Given the description of an element on the screen output the (x, y) to click on. 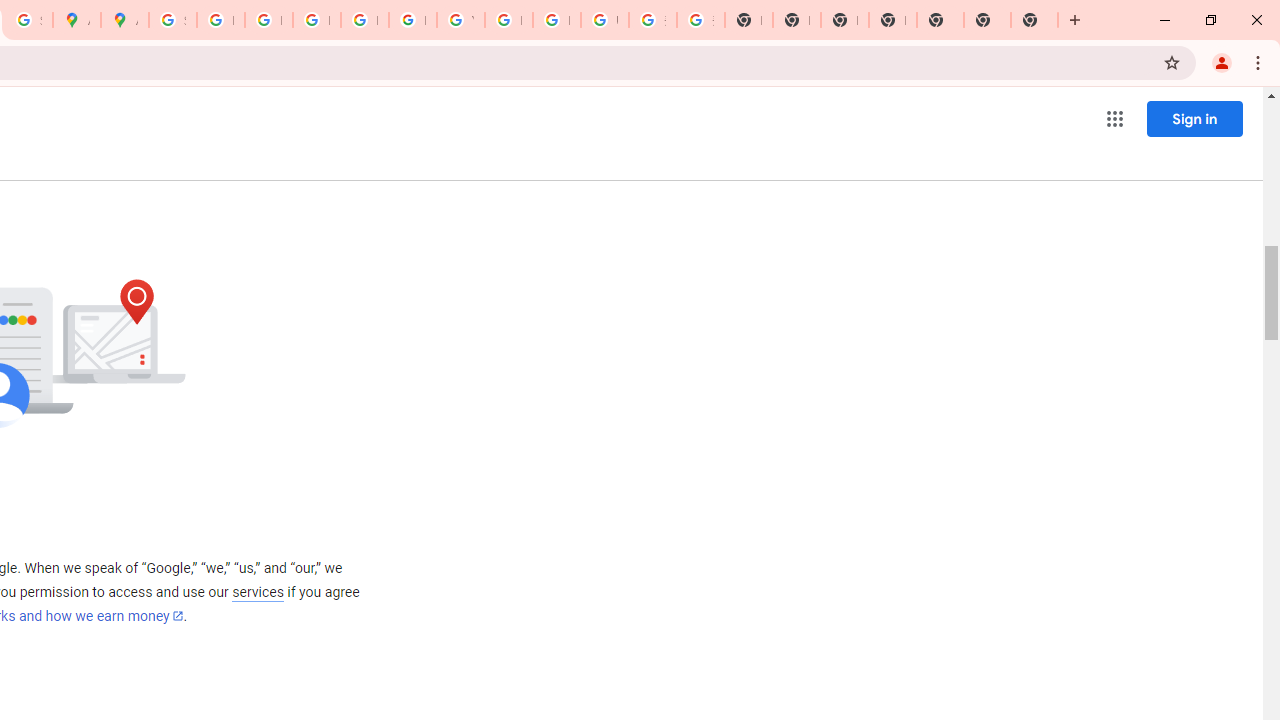
Privacy Help Center - Policies Help (268, 20)
Privacy Help Center - Policies Help (316, 20)
